Given the description of an element on the screen output the (x, y) to click on. 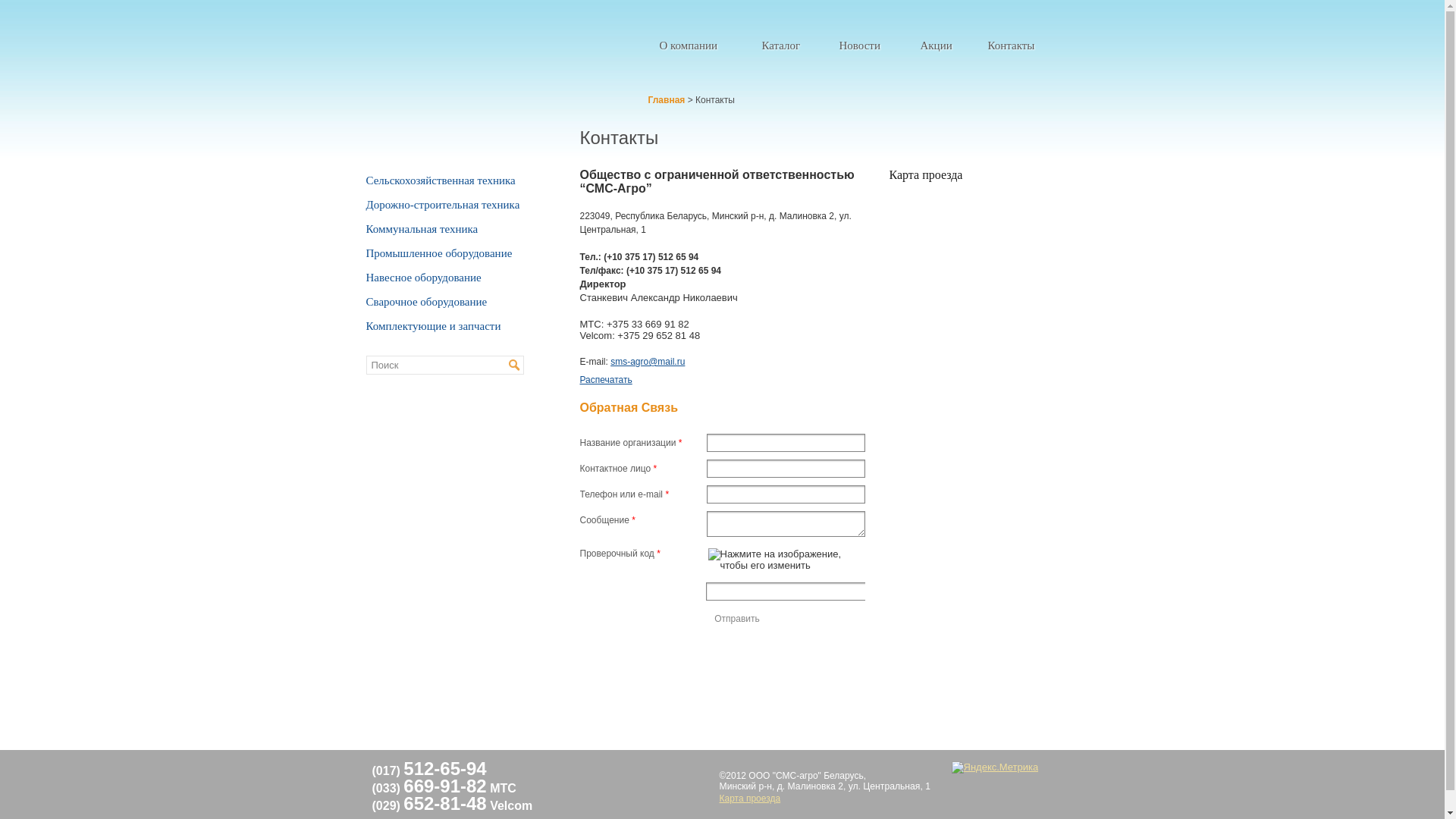
sms-agro@mail.ru Element type: text (647, 361)
